Given the description of an element on the screen output the (x, y) to click on. 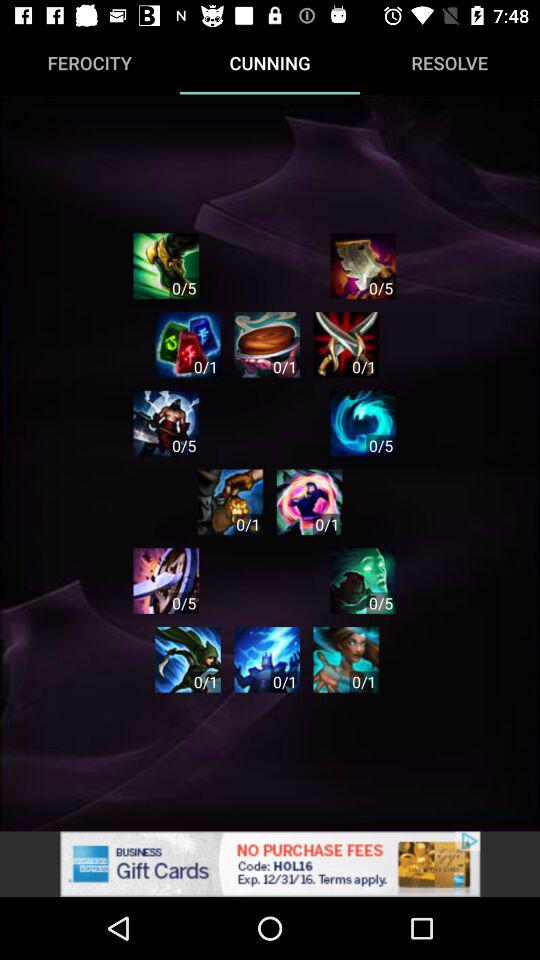
option to select video (230, 502)
